Given the description of an element on the screen output the (x, y) to click on. 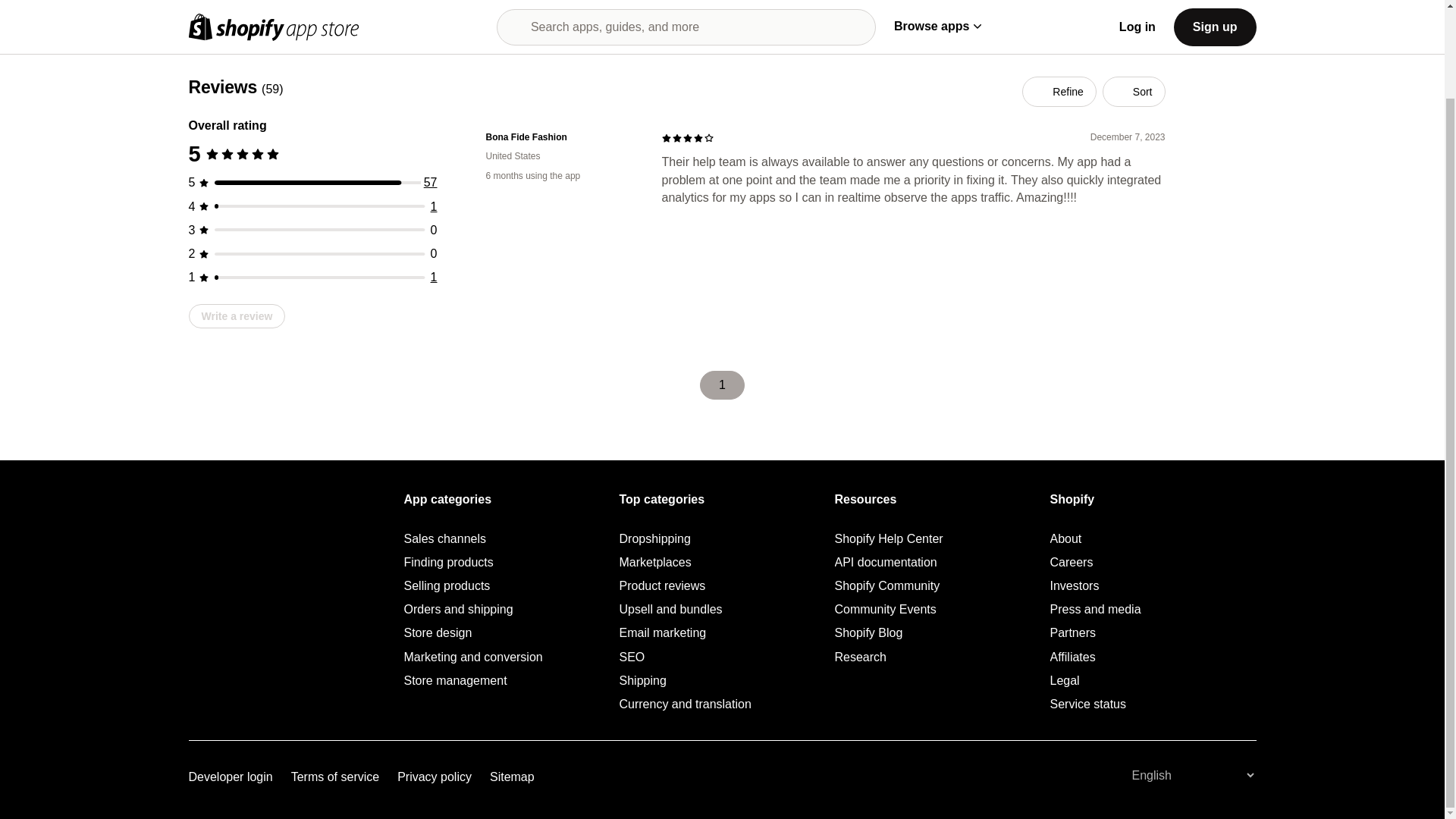
Log in to install (1191, 13)
Bona Fide Fashion (560, 137)
Write a review (236, 315)
Refine (1059, 91)
57 (430, 182)
